Given the description of an element on the screen output the (x, y) to click on. 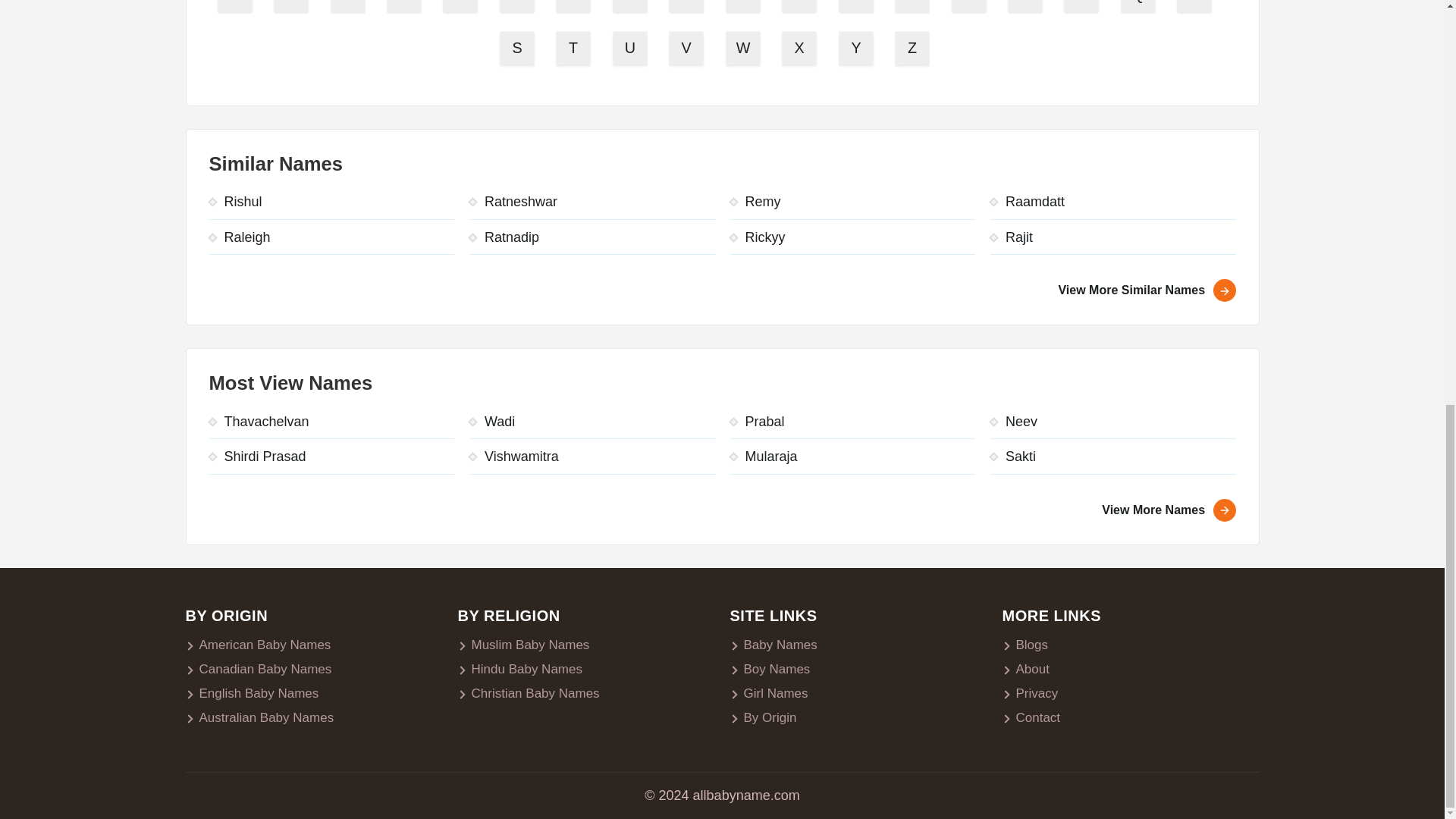
J (743, 7)
E (462, 7)
D (406, 7)
H (631, 7)
I (688, 7)
F (518, 7)
A (236, 7)
B (294, 7)
G (575, 7)
C (349, 7)
